Given the description of an element on the screen output the (x, y) to click on. 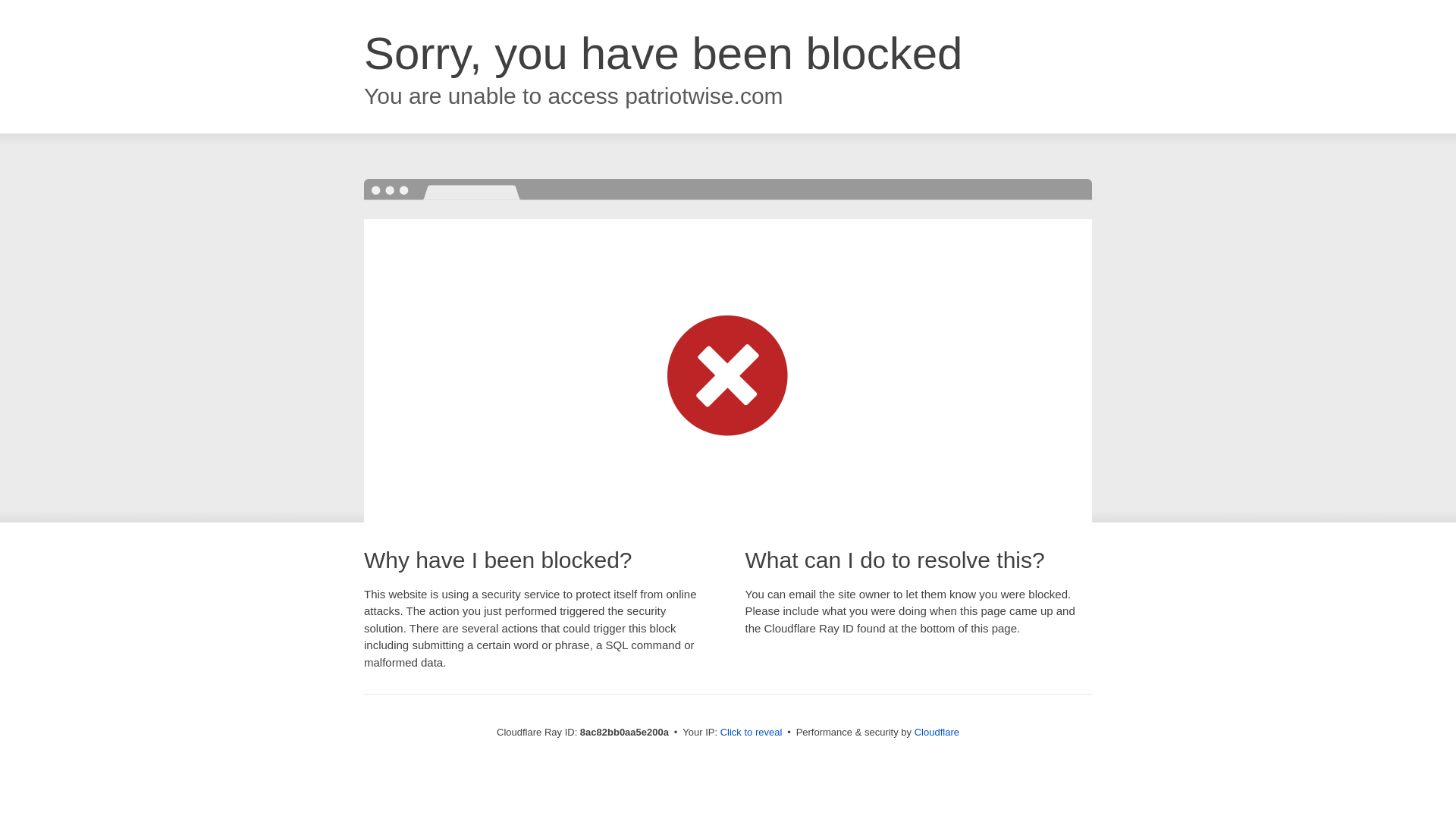
Cloudflare (936, 731)
Click to reveal (751, 732)
